Given the description of an element on the screen output the (x, y) to click on. 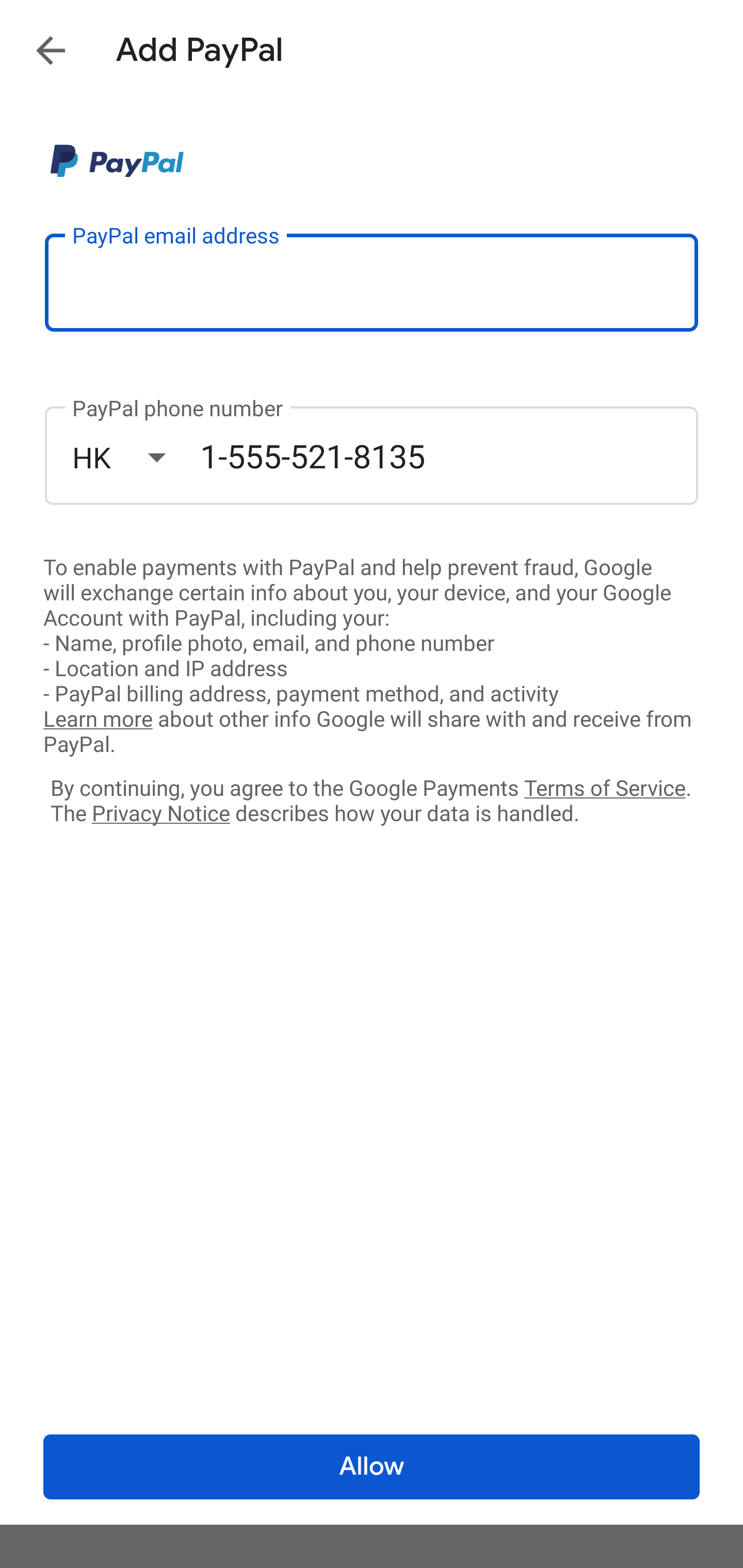
Navigate up (50, 50)
PayPal email address (371, 282)
HK (135, 456)
Learn more (97, 719)
Terms of Service (604, 787)
Privacy Notice (160, 814)
Allow (371, 1466)
